Given the description of an element on the screen output the (x, y) to click on. 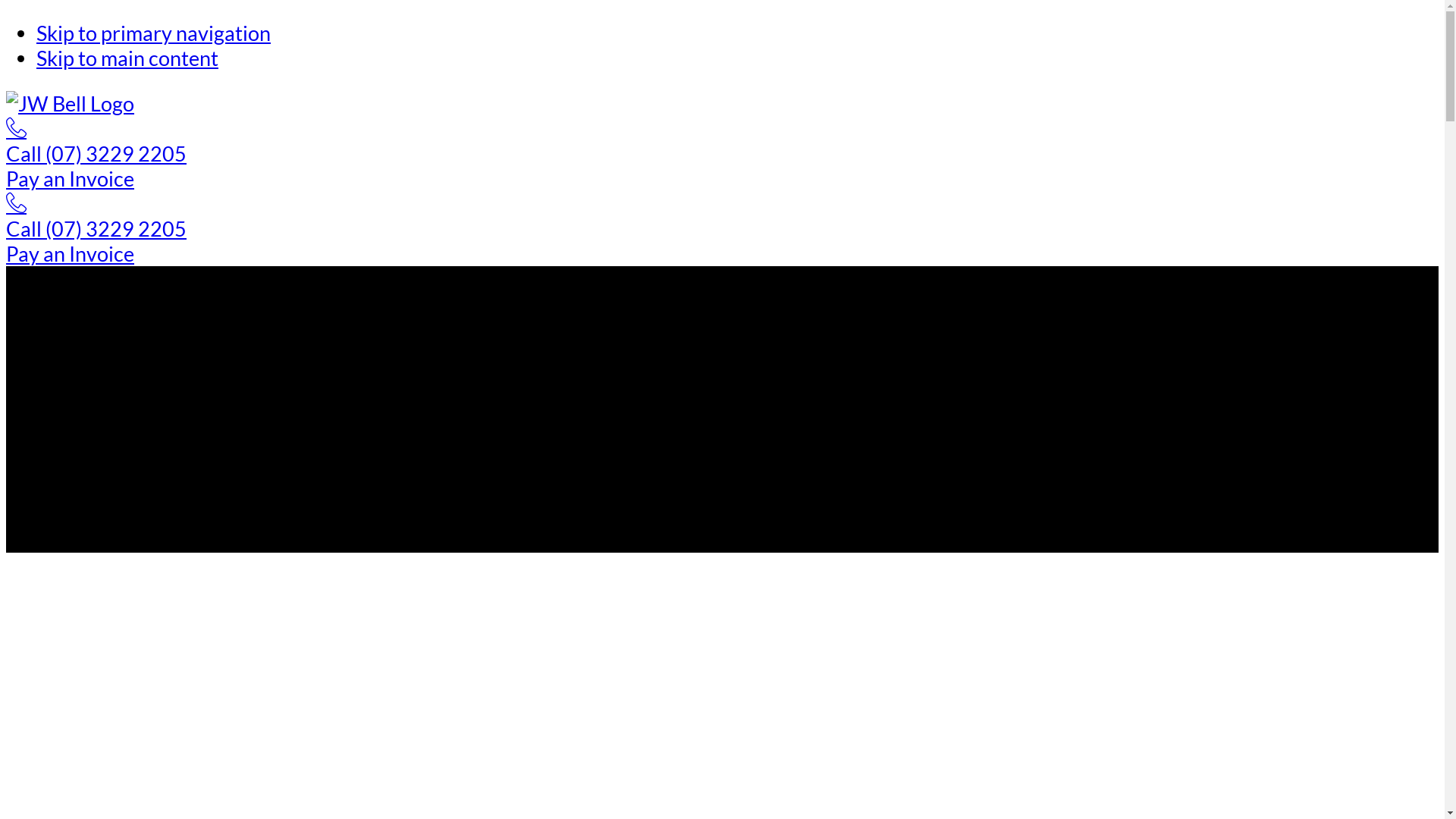
Skip to main content Element type: text (127, 57)
Skip to primary navigation Element type: text (153, 32)
Pay an Invoice Element type: text (70, 178)
Call (07) 3229 2205 Element type: text (722, 216)
Pay an Invoice Element type: text (70, 253)
Call (07) 3229 2205 Element type: text (722, 141)
JW Bell Logo Element type: hover (70, 103)
